Given the description of an element on the screen output the (x, y) to click on. 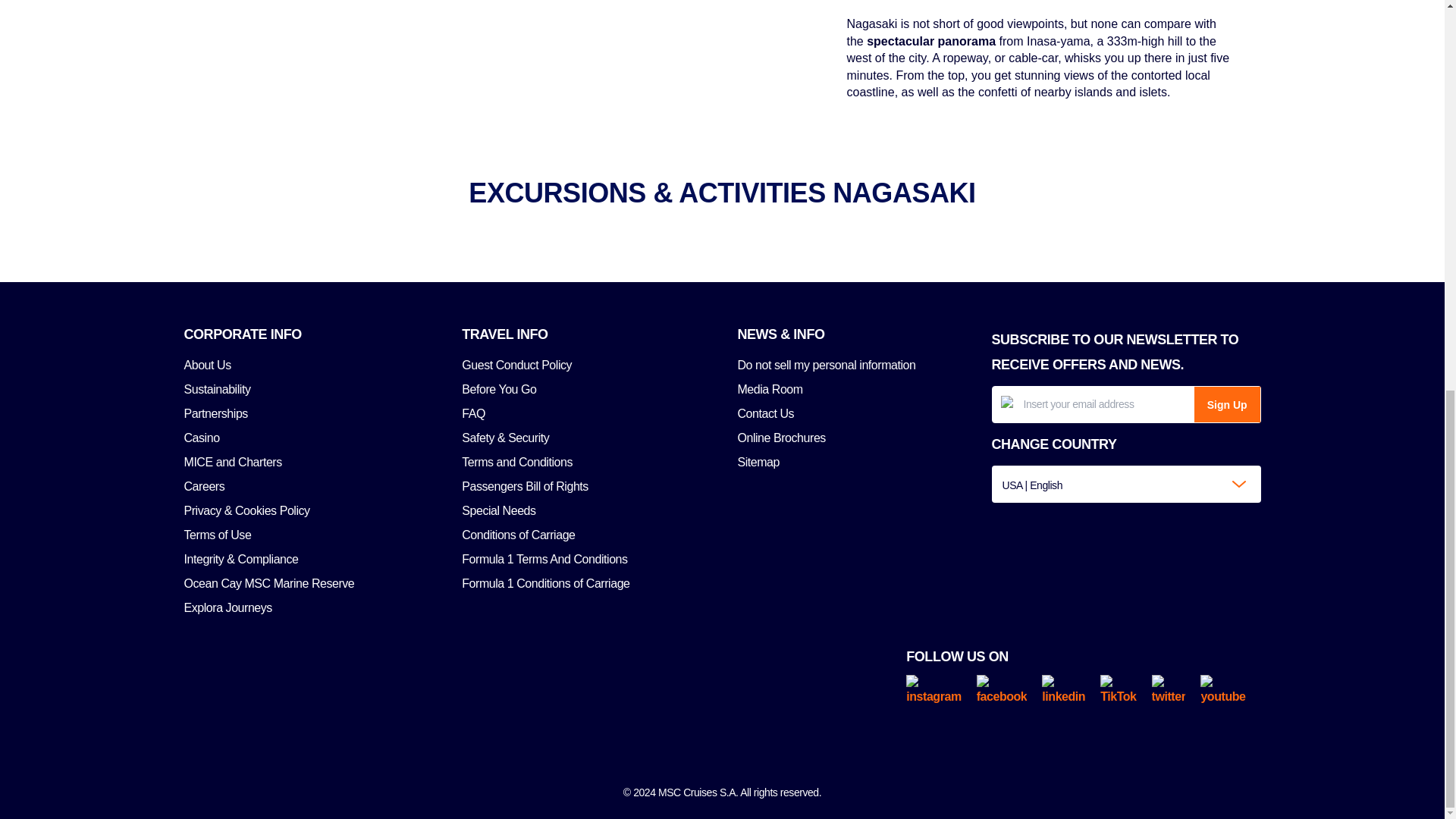
facebook (1009, 690)
instagram (940, 690)
Please fill out this field (1092, 404)
Sign Up (1226, 404)
